Given the description of an element on the screen output the (x, y) to click on. 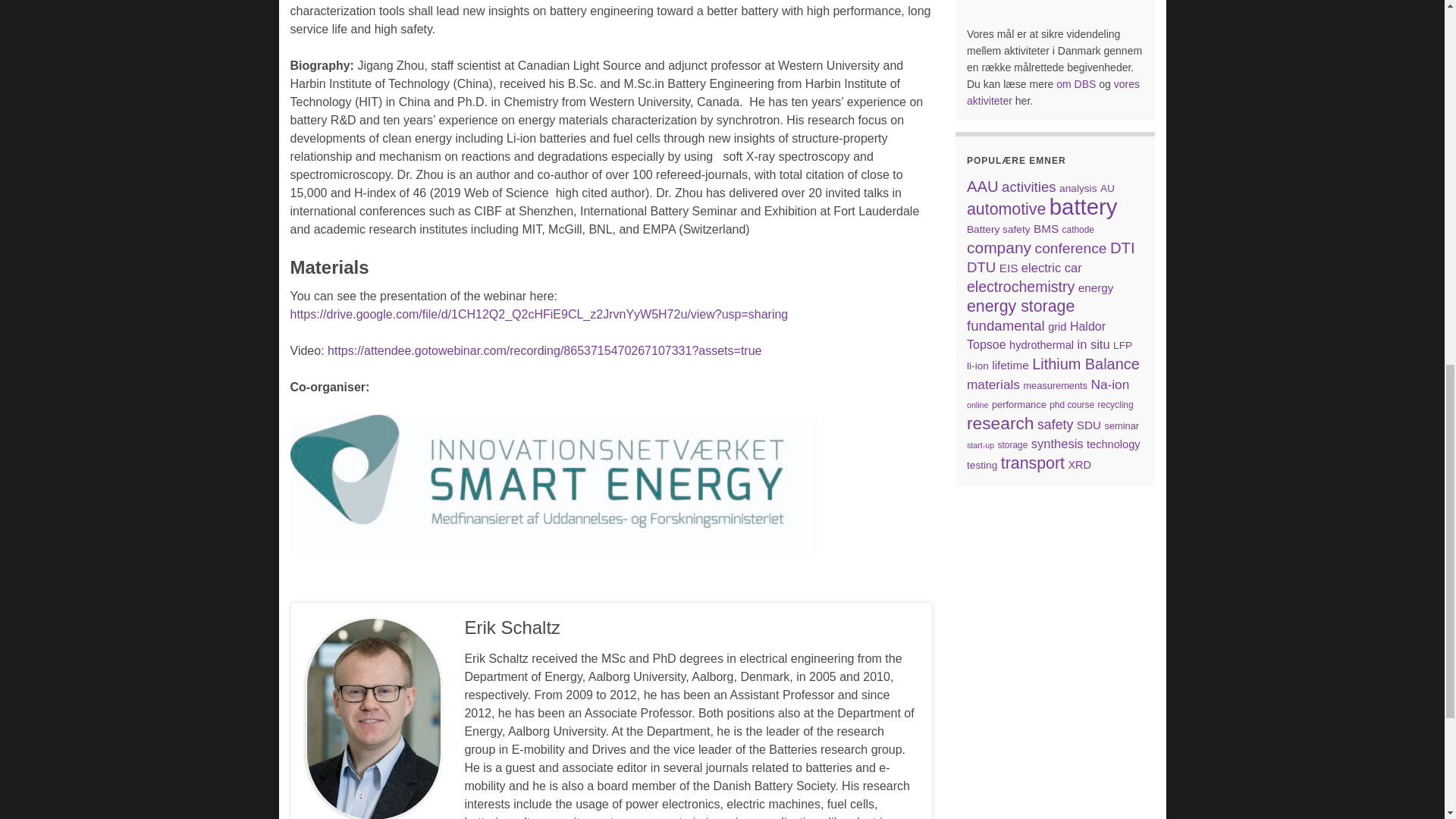
DBS (1078, 83)
Activities (1053, 92)
